Given the description of an element on the screen output the (x, y) to click on. 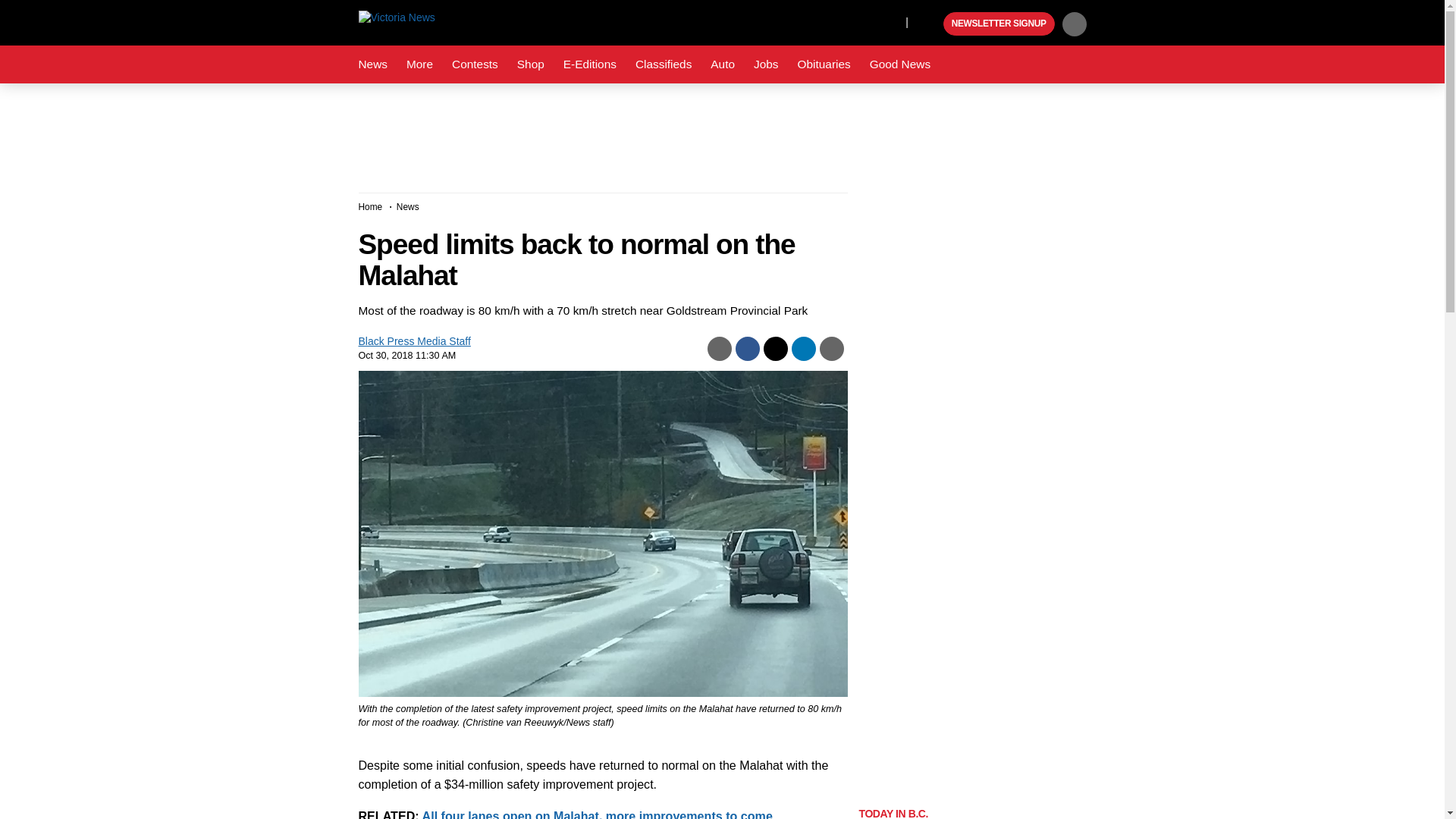
Play (929, 24)
News (372, 64)
Black Press Media (929, 24)
X (889, 21)
NEWSLETTER SIGNUP (998, 24)
